Given the description of an element on the screen output the (x, y) to click on. 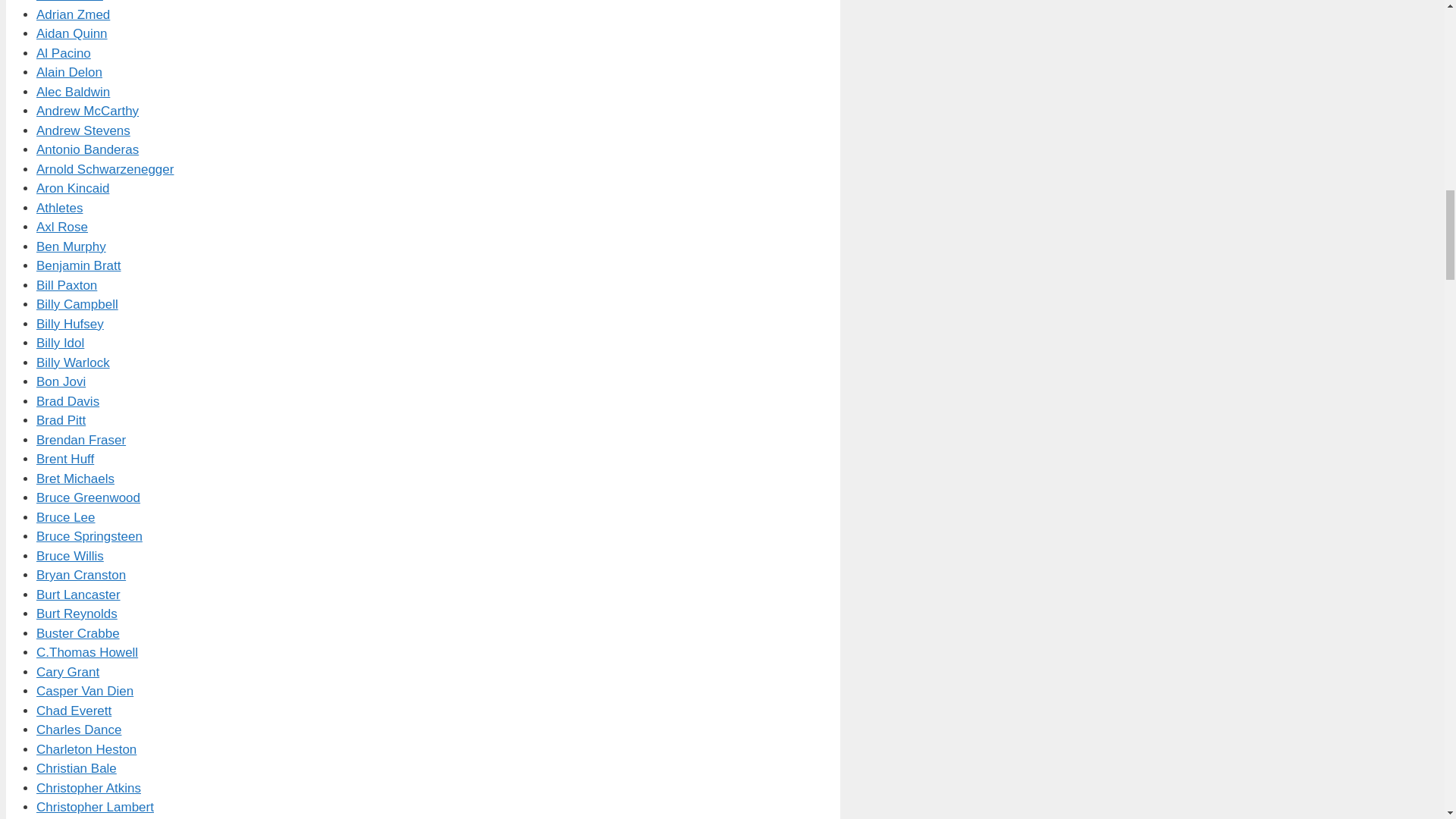
Alec Baldwin (73, 92)
Al Pacino (63, 52)
Andrew McCarthy (87, 110)
Andrew Stevens (83, 130)
Antonio Banderas (87, 149)
Arnold Schwarzenegger (104, 169)
Adrian Paul (69, 1)
Alain Delon (68, 72)
Aidan Quinn (71, 33)
Adrian Zmed (73, 14)
